Given the description of an element on the screen output the (x, y) to click on. 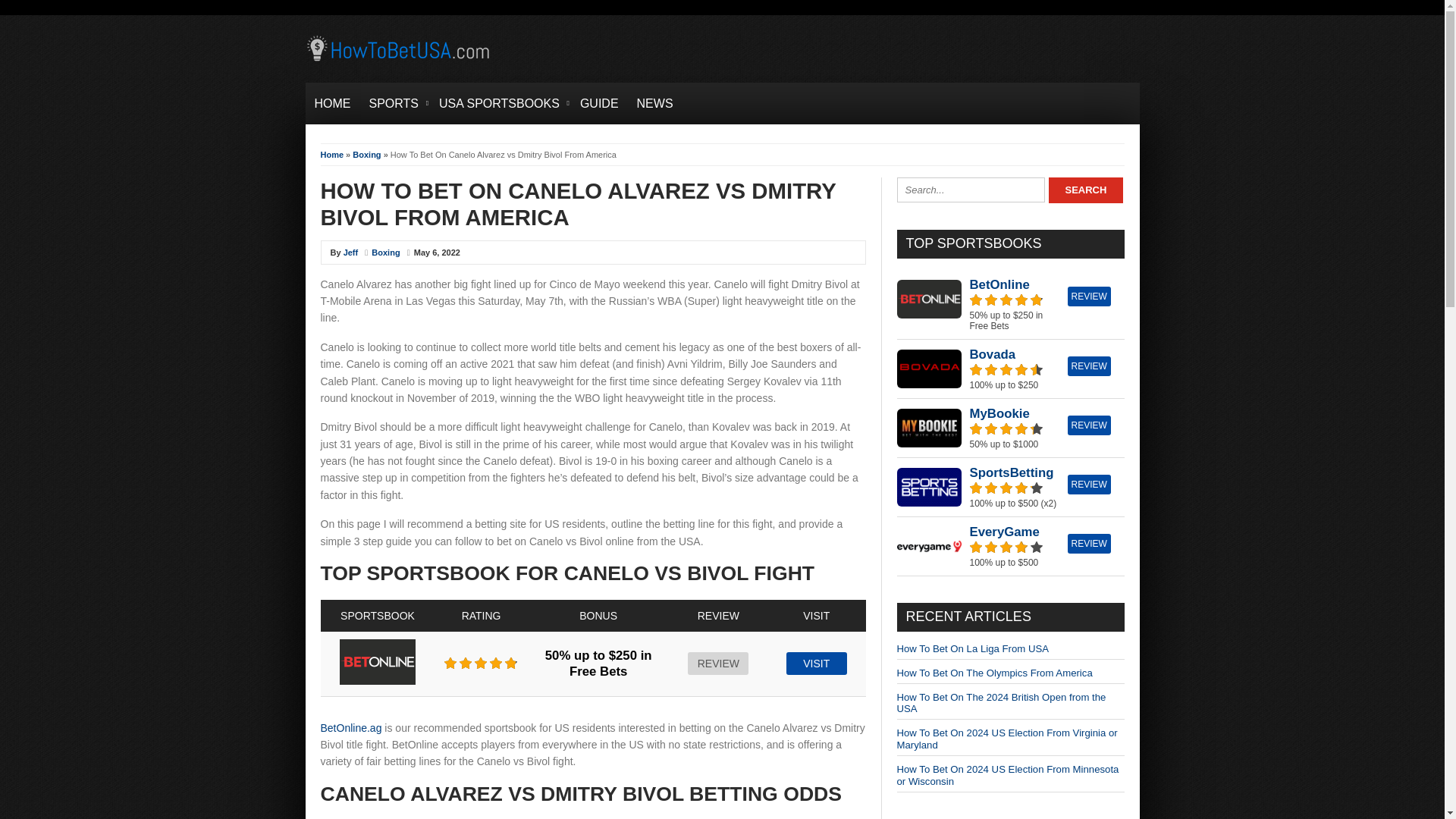
Posts by Jeff (350, 252)
USA SPORTSBOOKS (499, 103)
HOME (331, 103)
Search (1085, 190)
SPORTS (394, 103)
How To Bet USA (399, 62)
Search (1085, 190)
